Given the description of an element on the screen output the (x, y) to click on. 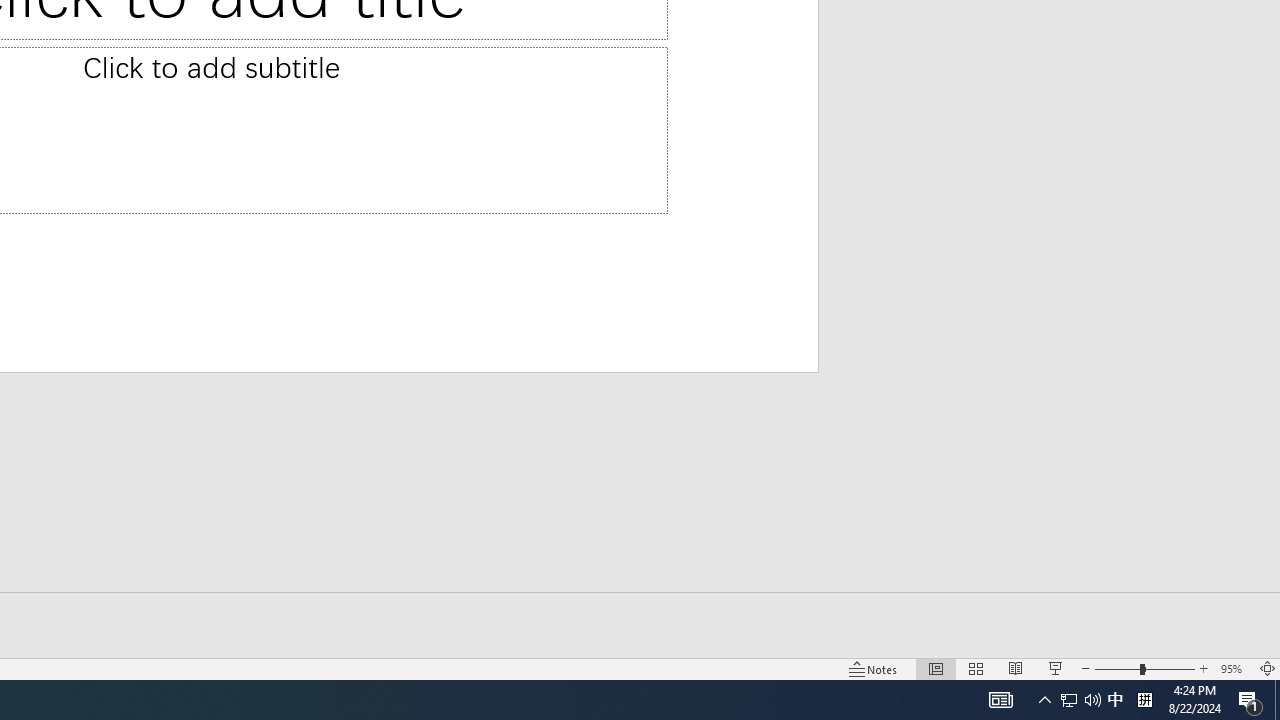
Zoom 95% (1234, 668)
